Given the description of an element on the screen output the (x, y) to click on. 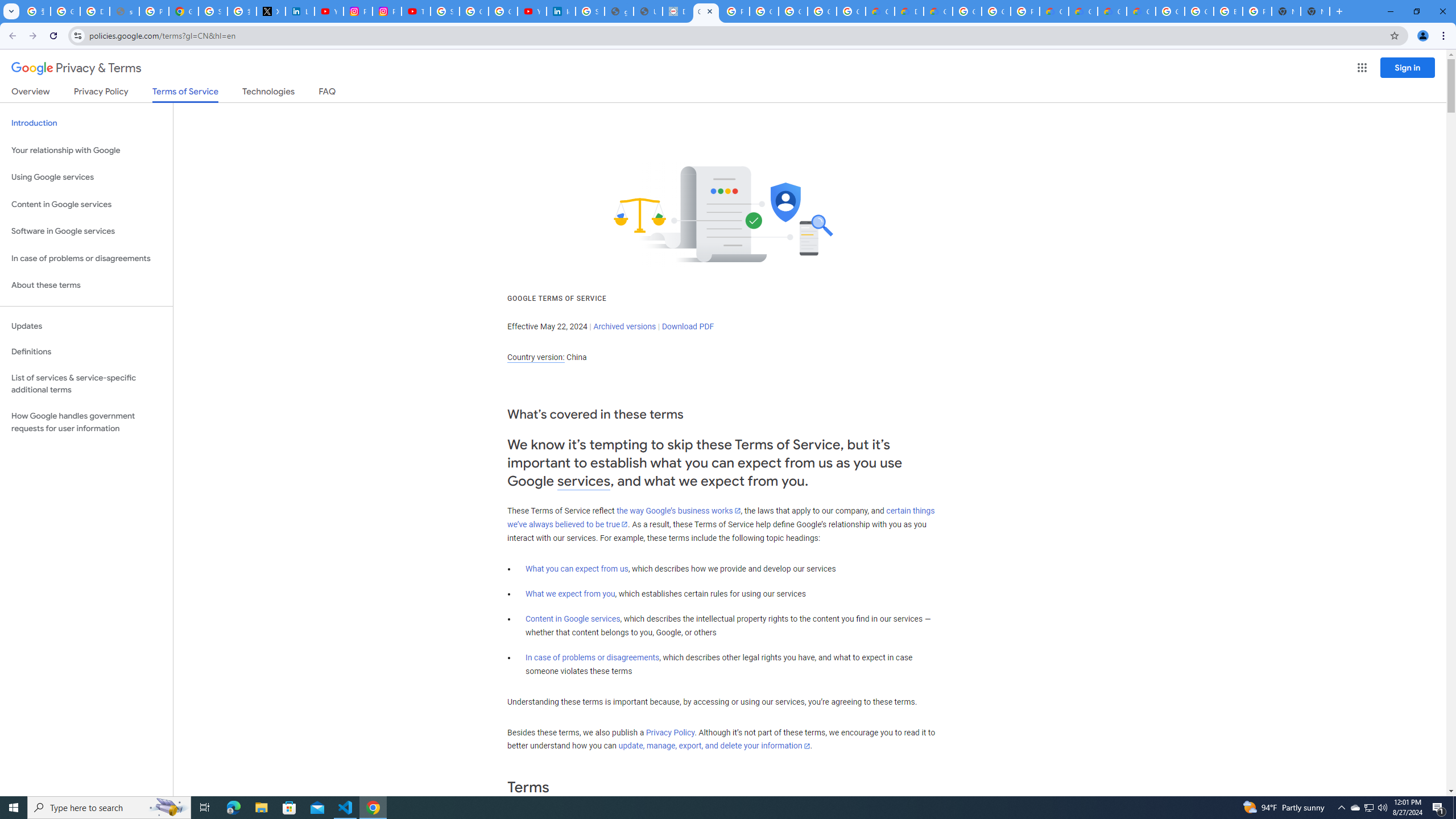
Download PDF (687, 326)
Google Cloud Platform (1198, 11)
support.google.com - Network error (124, 11)
Content in Google services (572, 618)
Customer Care | Google Cloud (879, 11)
List of services & service-specific additional terms (86, 383)
Country version: (535, 357)
LinkedIn Privacy Policy (300, 11)
In case of problems or disagreements (592, 657)
